Given the description of an element on the screen output the (x, y) to click on. 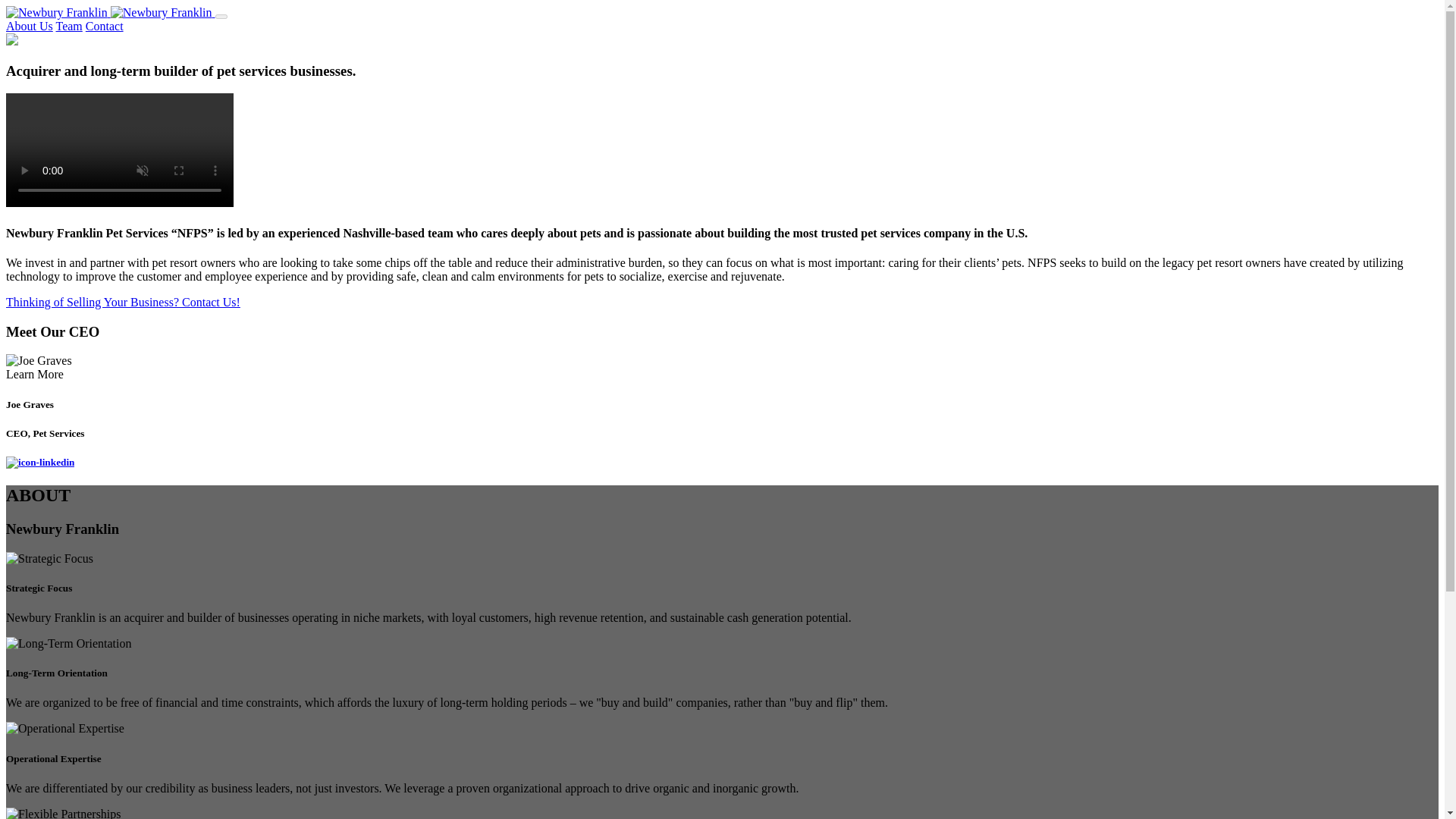
Thinking of Selling Your Business? Contact Us! (122, 301)
About Us (28, 25)
Contact (104, 25)
Joe Graves (38, 360)
Team (69, 25)
